Given the description of an element on the screen output the (x, y) to click on. 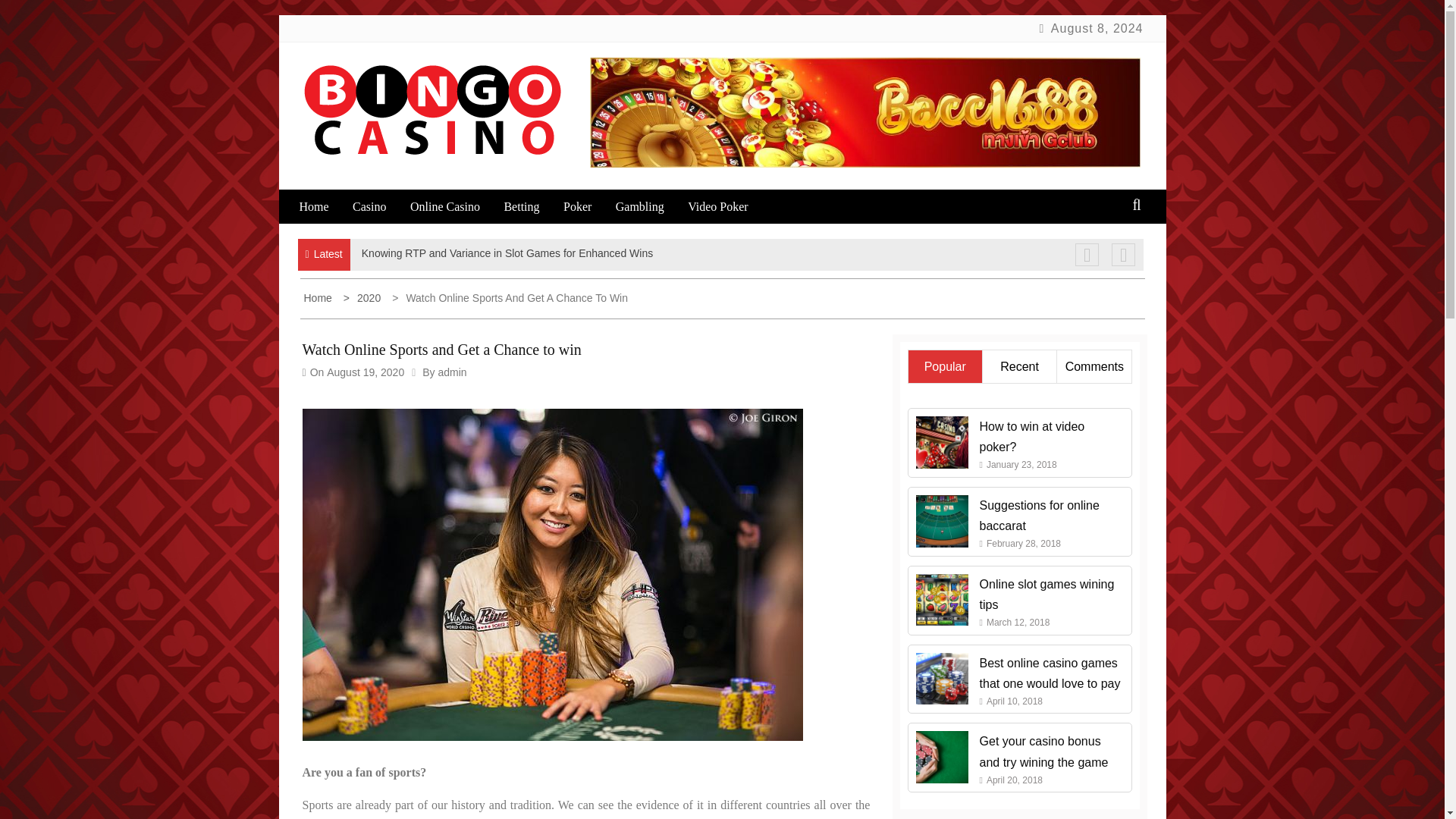
Comments (1094, 366)
Home (318, 297)
Betting (531, 206)
Home (323, 206)
August 19, 2020 (365, 372)
Bingo casino (394, 182)
Knowing RTP and Variance in Slot Games for Enhanced Wins (506, 253)
2020 (363, 297)
Online Casino (455, 206)
Recent (1019, 366)
Gambling (649, 206)
Video Poker (727, 206)
Casino (379, 206)
Poker (587, 206)
Popular (945, 366)
